Given the description of an element on the screen output the (x, y) to click on. 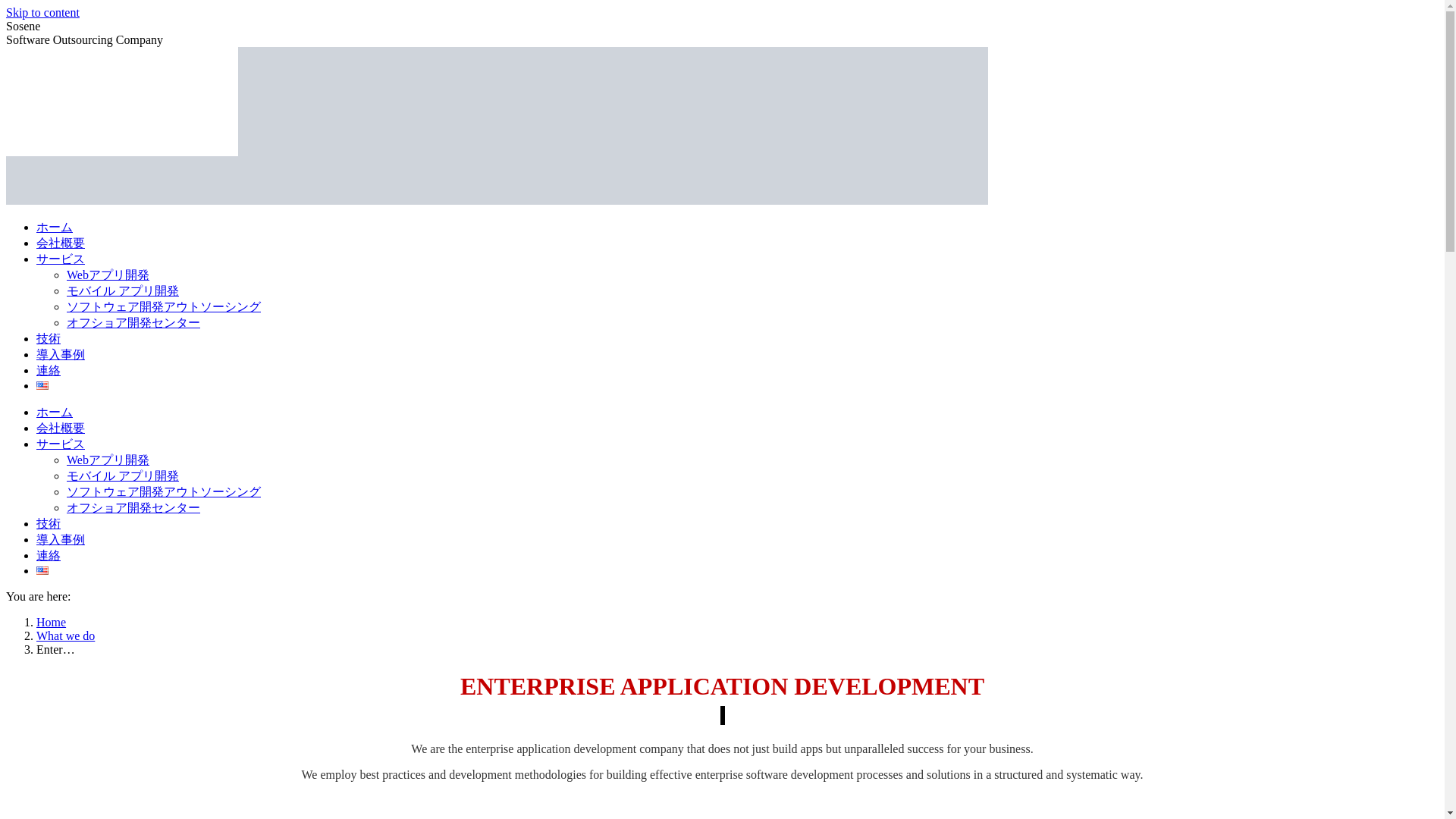
What we do (65, 635)
Home (50, 621)
Skip to content (42, 11)
Home (50, 621)
What we do (65, 635)
